Given the description of an element on the screen output the (x, y) to click on. 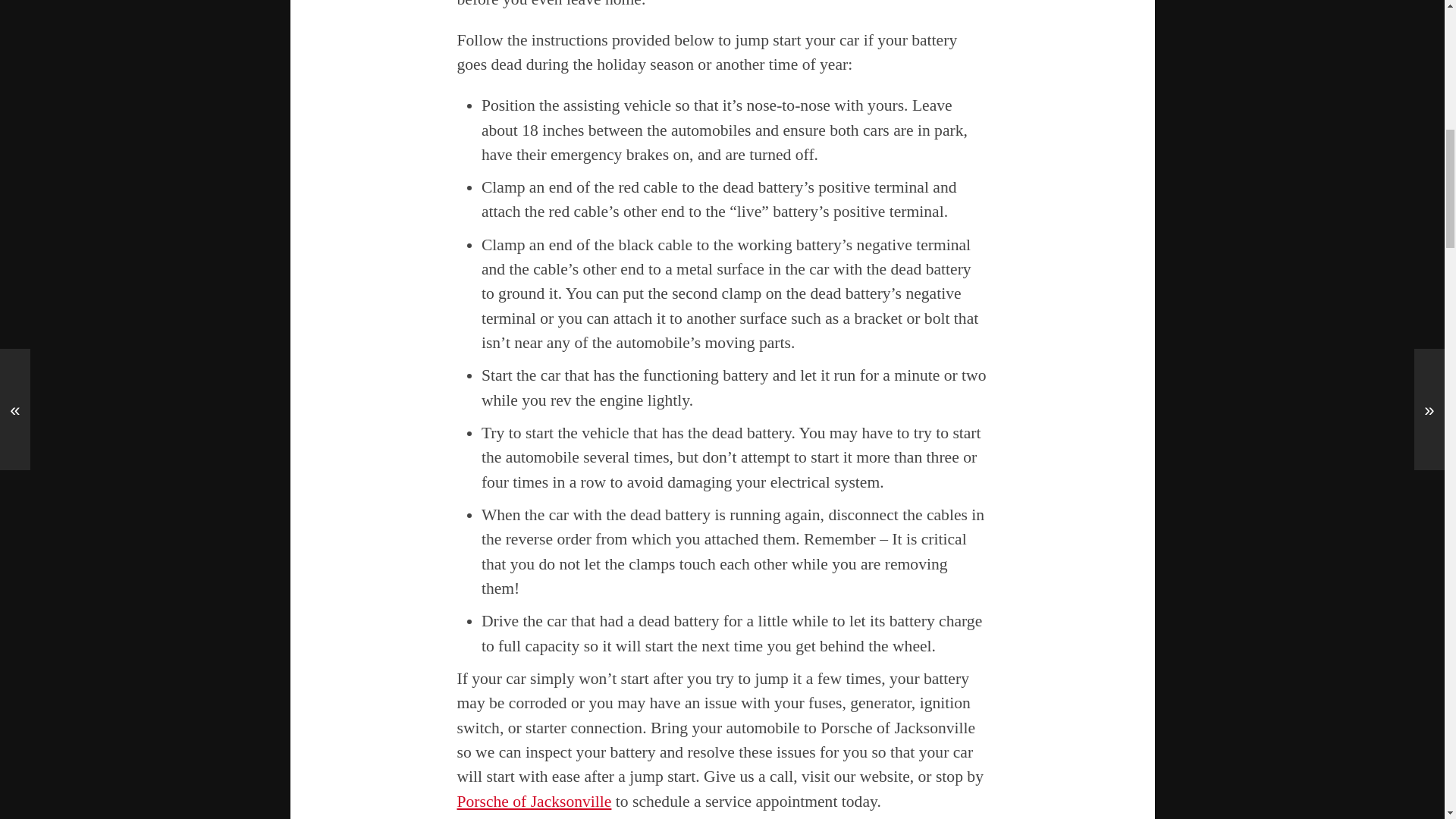
Porsche of Jacksonville (534, 801)
